Given the description of an element on the screen output the (x, y) to click on. 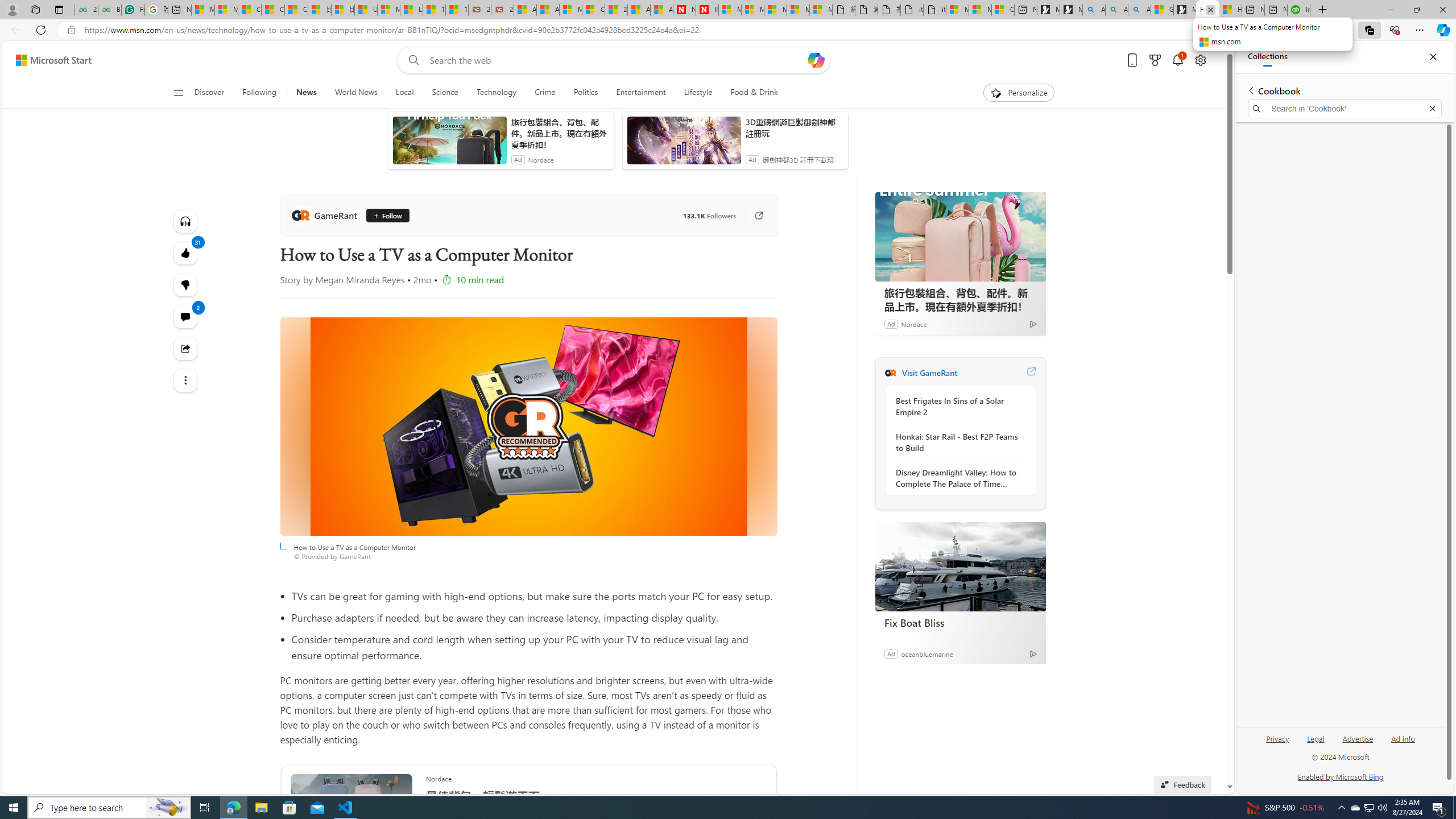
Lifestyle - MSN (411, 9)
Politics (585, 92)
Science (444, 92)
Search in 'Cookbook' (1345, 108)
15 Ways Modern Life Contradicts the Teachings of Jesus (457, 9)
Crime (544, 92)
How to Use a TV as a Computer Monitor (528, 426)
Microsoft rewards (1154, 60)
Share this story (184, 348)
Microsoft Services Agreement (752, 9)
